Given the description of an element on the screen output the (x, y) to click on. 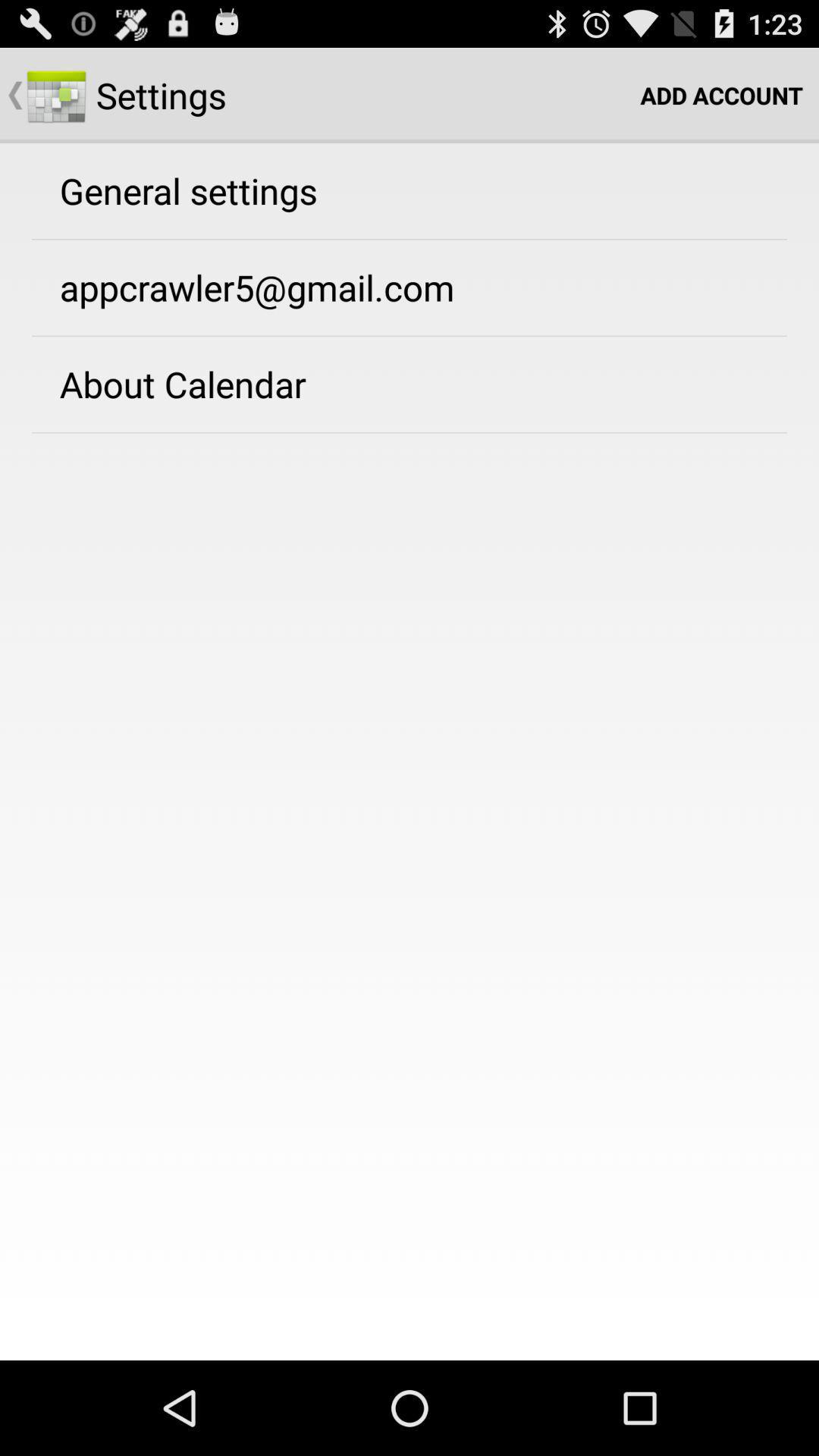
select about calendar item (182, 384)
